Given the description of an element on the screen output the (x, y) to click on. 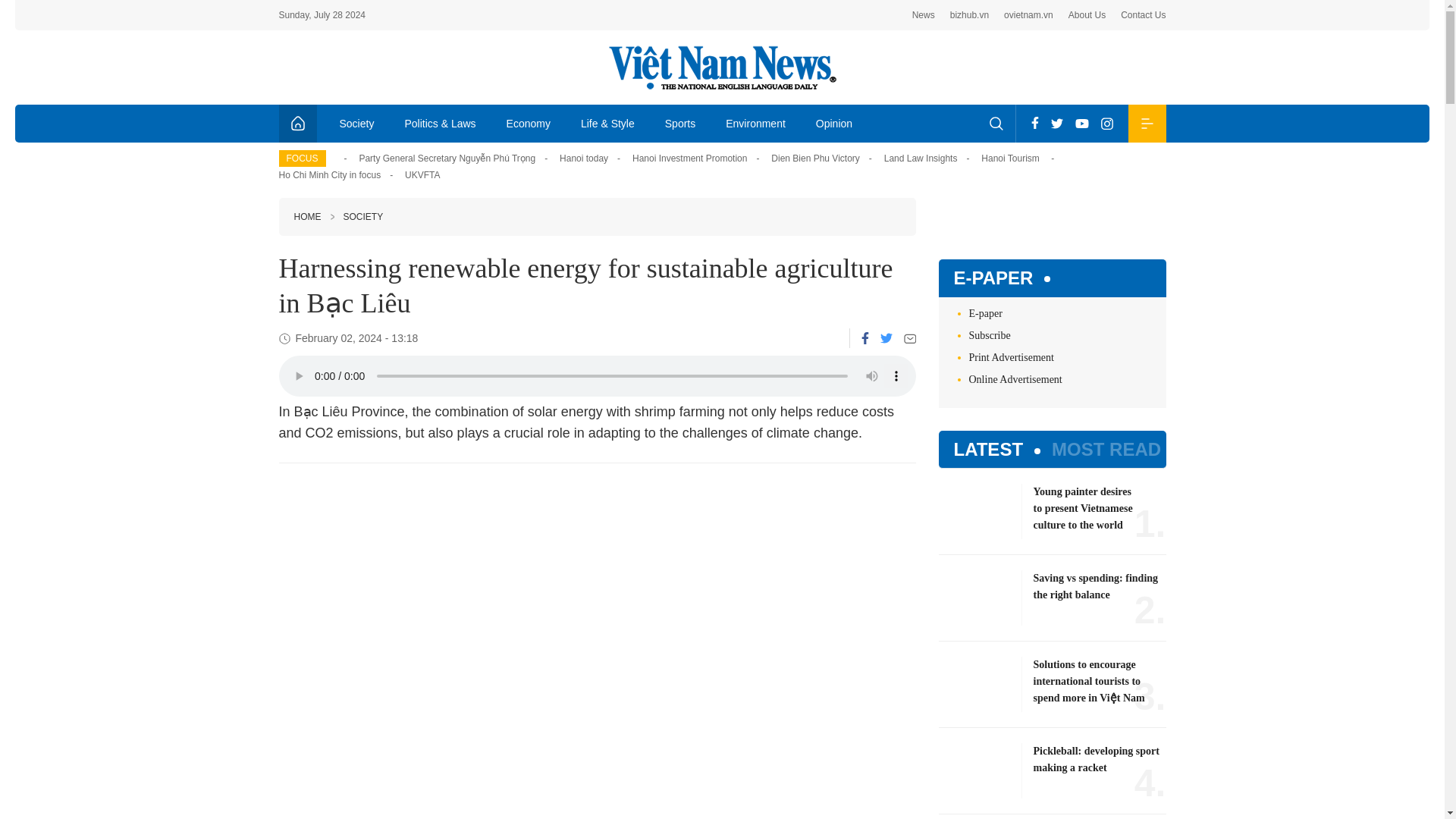
Facebook (1035, 123)
Youtube (1081, 122)
ovietnam.vn (1028, 15)
Twitter (885, 337)
About Us (1086, 15)
Economy (529, 123)
Contact Us (1143, 15)
Twitter (1056, 122)
Instagram (1106, 123)
Email (909, 338)
bizhub.vn (969, 15)
Facebook (865, 337)
Society (357, 123)
News (923, 15)
Opinion (833, 123)
